Given the description of an element on the screen output the (x, y) to click on. 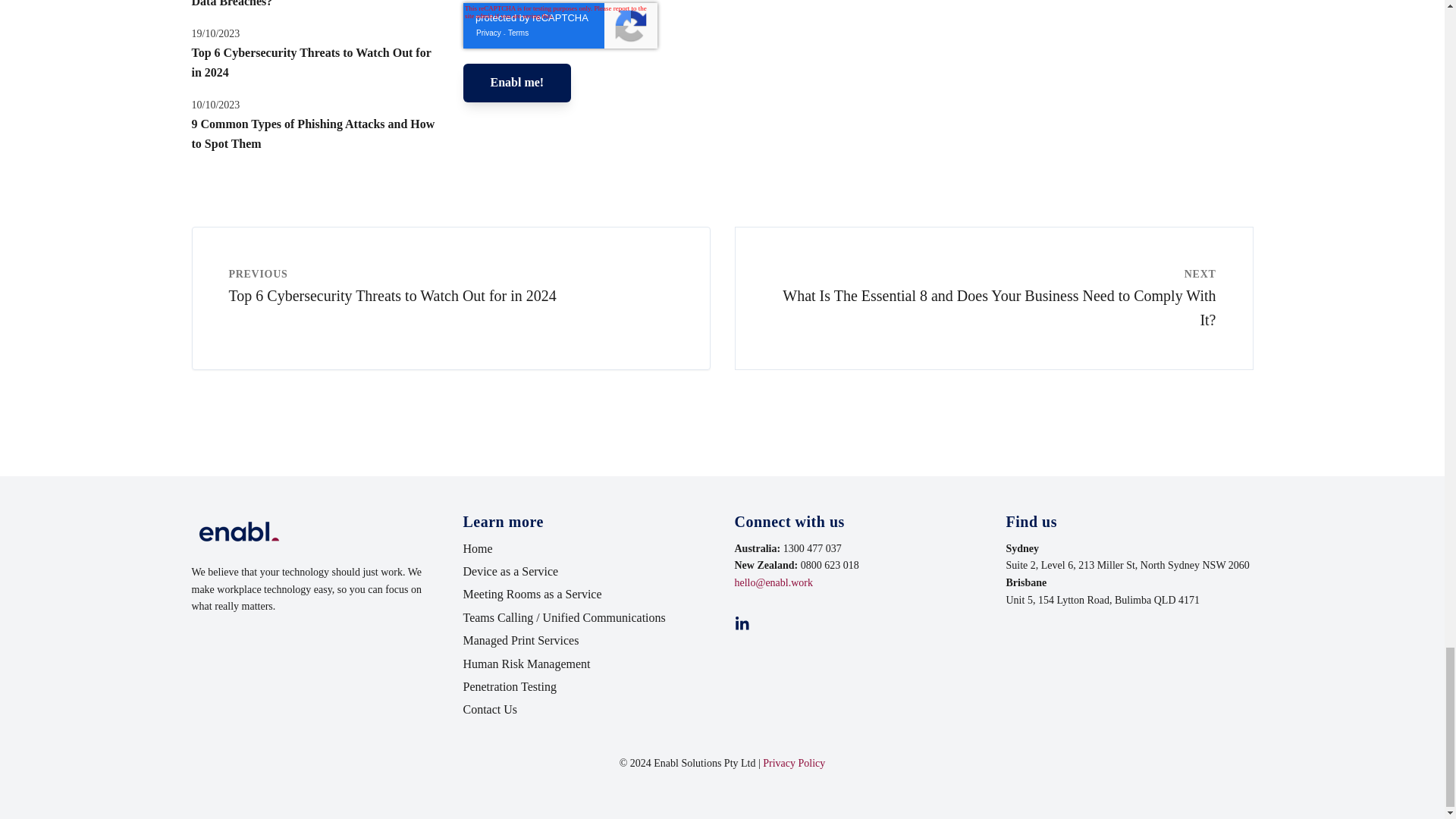
reCAPTCHA (559, 25)
Enabl me! (516, 82)
Enabl me! (516, 82)
